Given the description of an element on the screen output the (x, y) to click on. 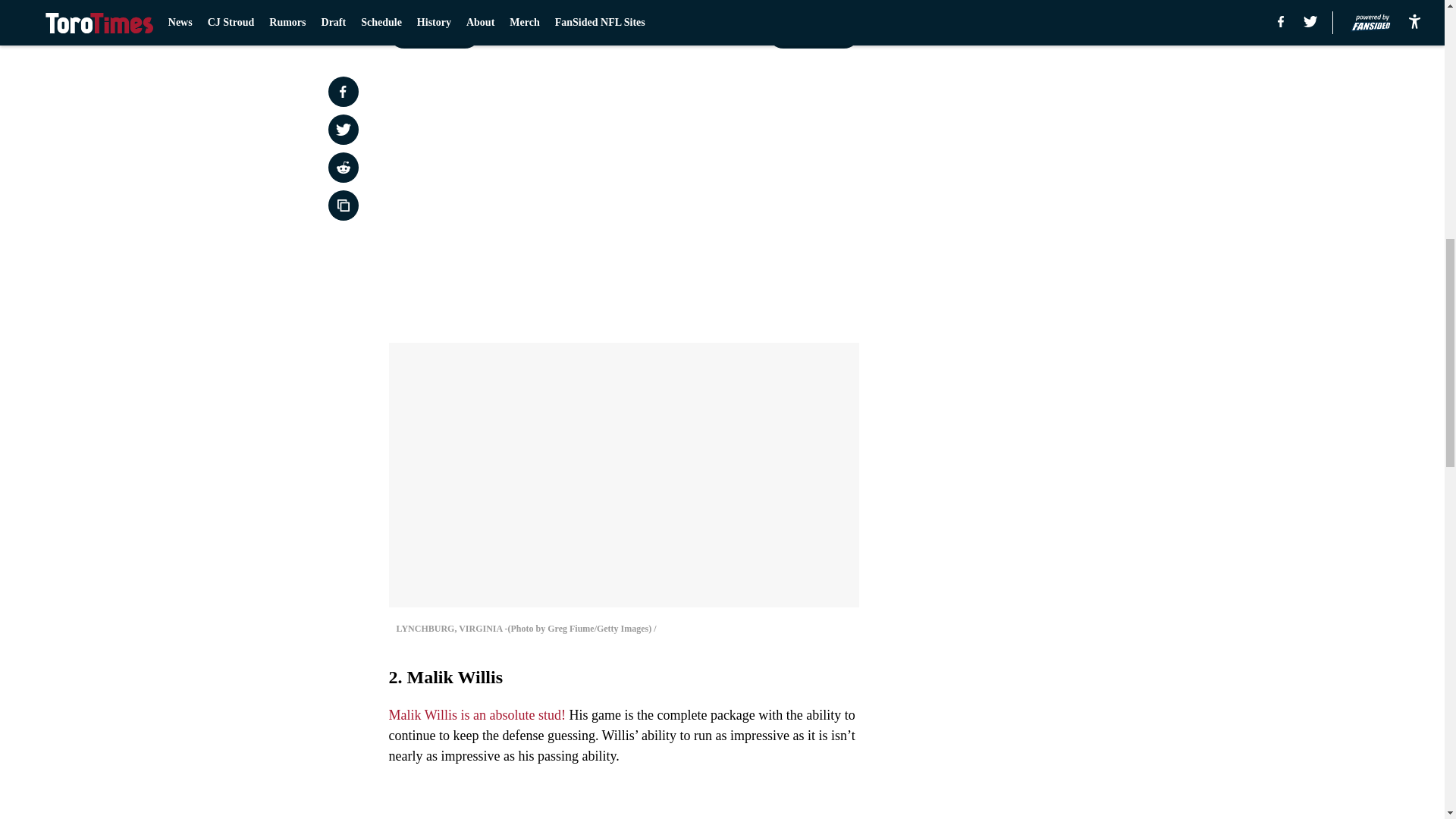
Malik Willis is an absolute stud! (476, 714)
Next (813, 33)
Prev (433, 33)
